Given the description of an element on the screen output the (x, y) to click on. 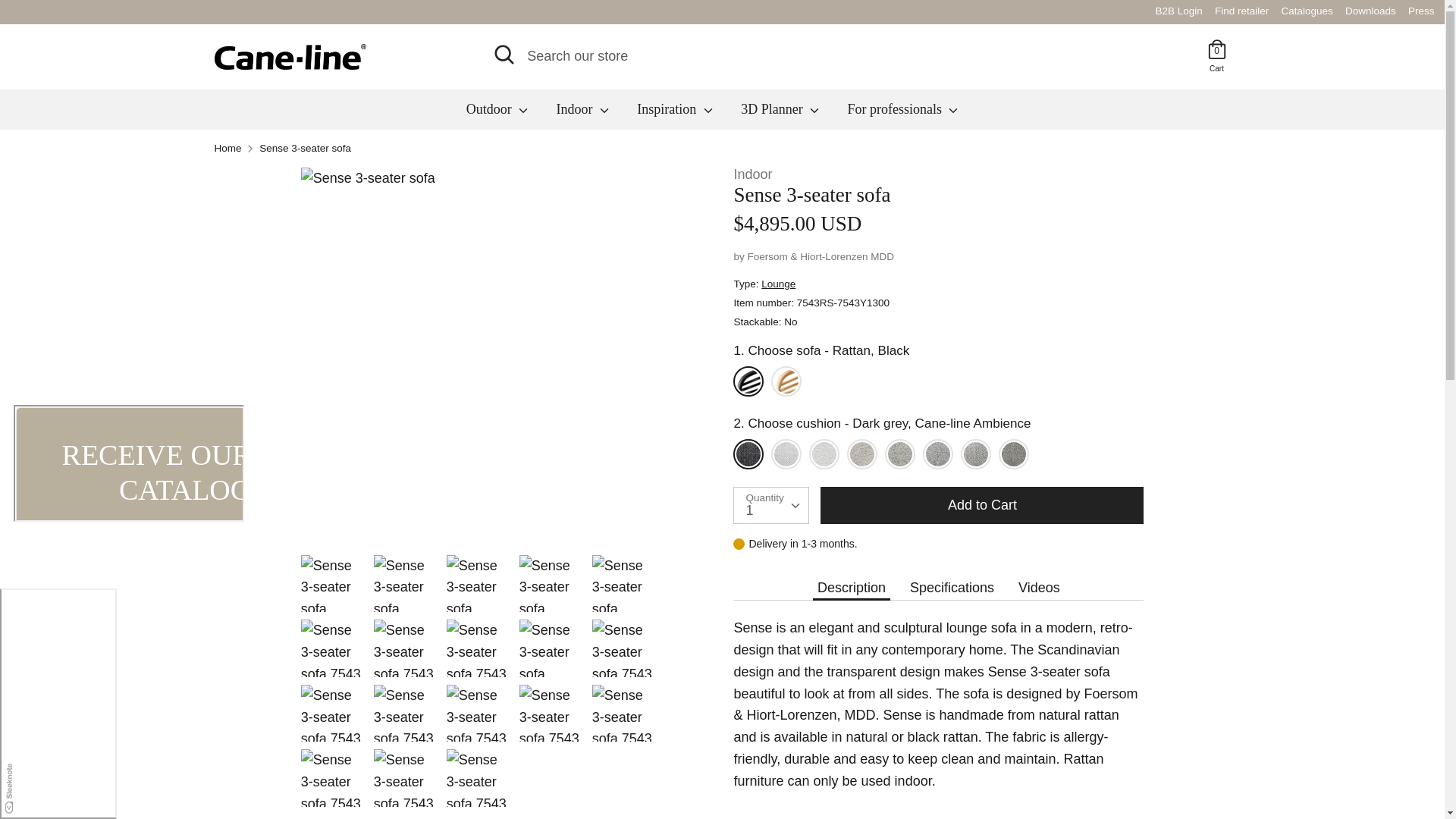
Downloads (1370, 11)
Catalogues (1216, 66)
Press (1307, 11)
Find retailer (1421, 11)
B2B Login (1241, 11)
